Given the description of an element on the screen output the (x, y) to click on. 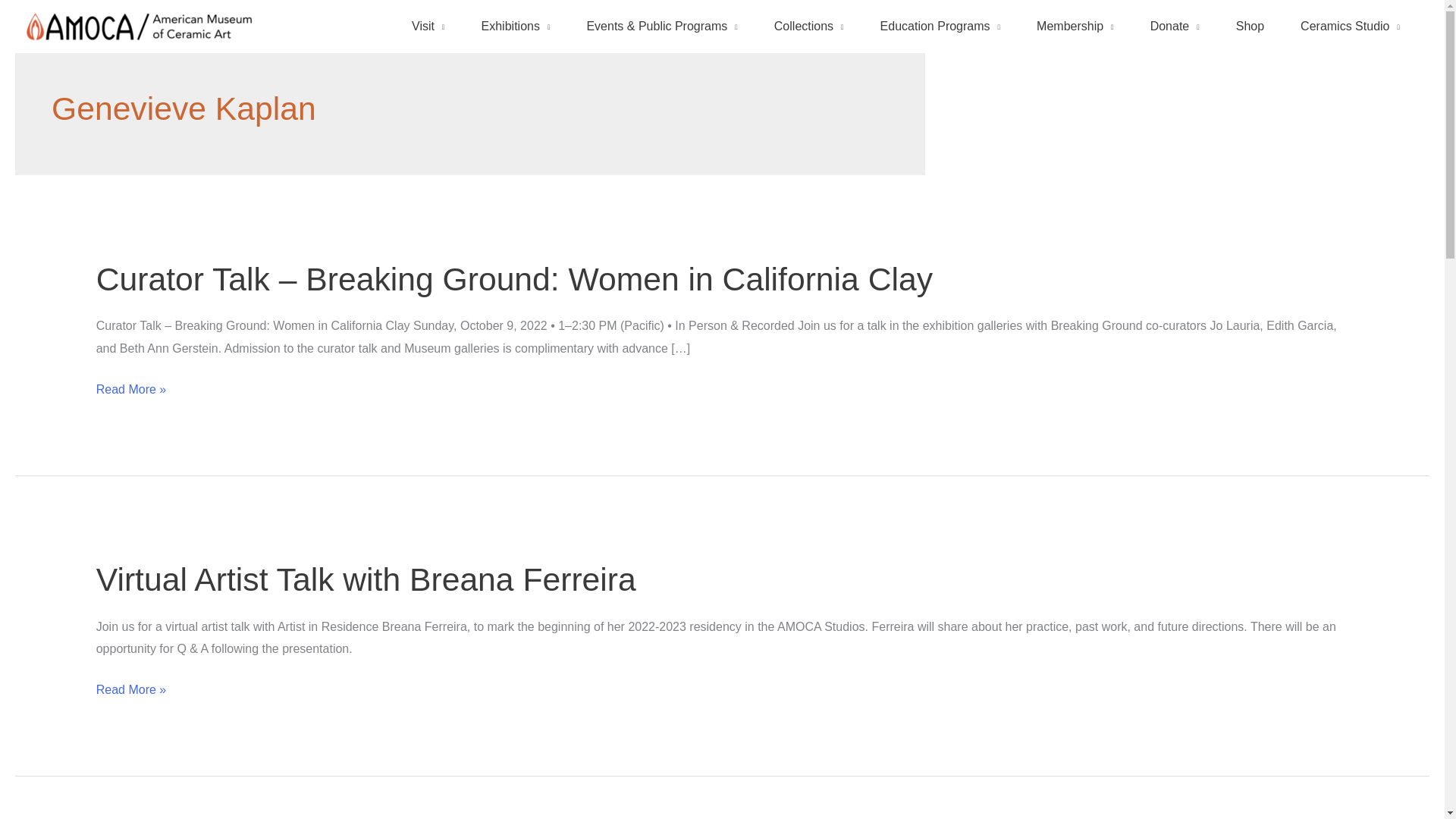
Collections (808, 26)
Membership (1075, 26)
Shop (1250, 26)
Ceramics Studio (1350, 26)
Donate (1174, 26)
Visit (427, 26)
Exhibitions (515, 26)
Education Programs (939, 26)
